Given the description of an element on the screen output the (x, y) to click on. 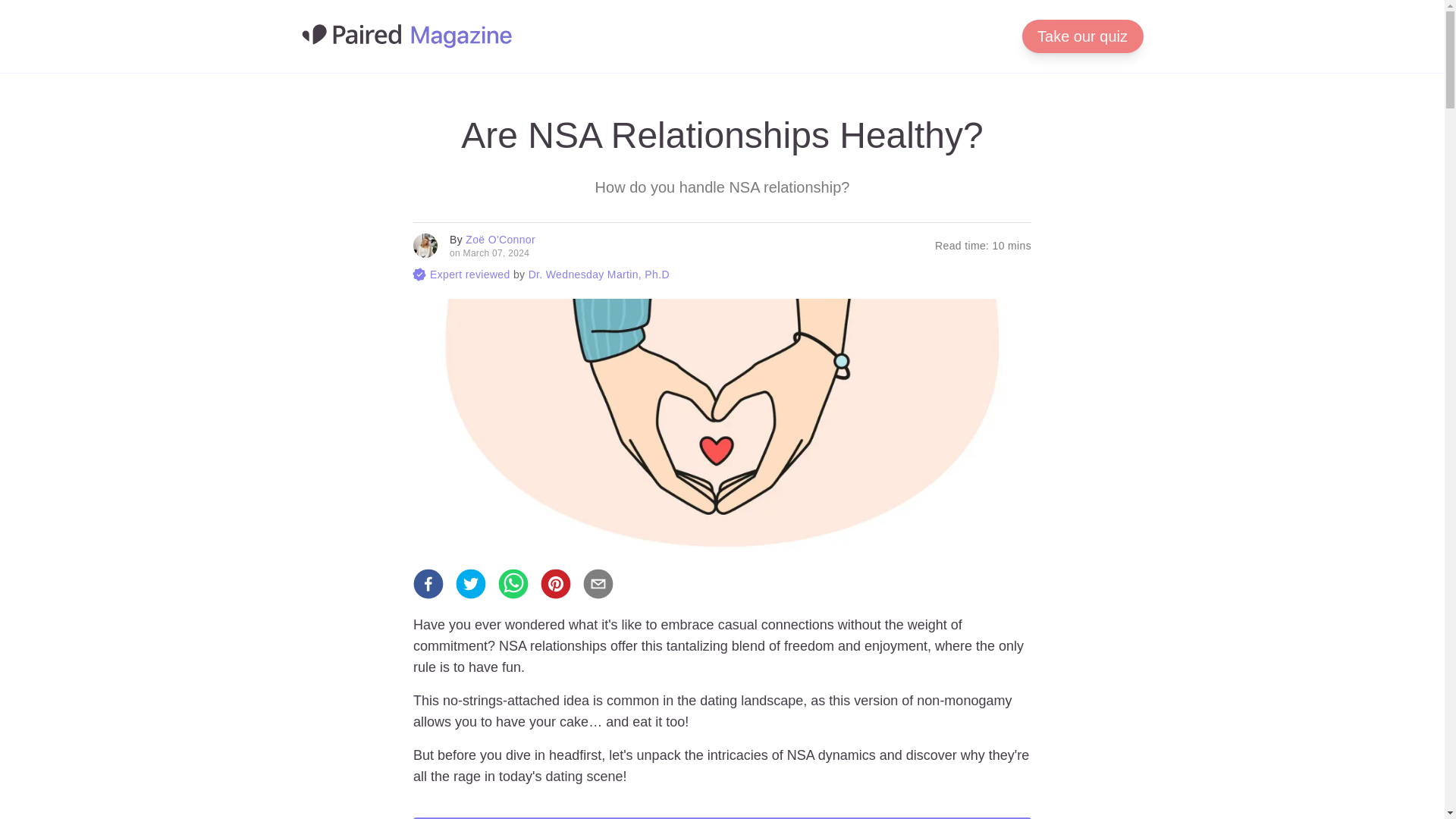
Dr. Wednesday Martin, Ph.D (598, 273)
Expert reviewed (470, 273)
Take our quiz (1082, 36)
